Given the description of an element on the screen output the (x, y) to click on. 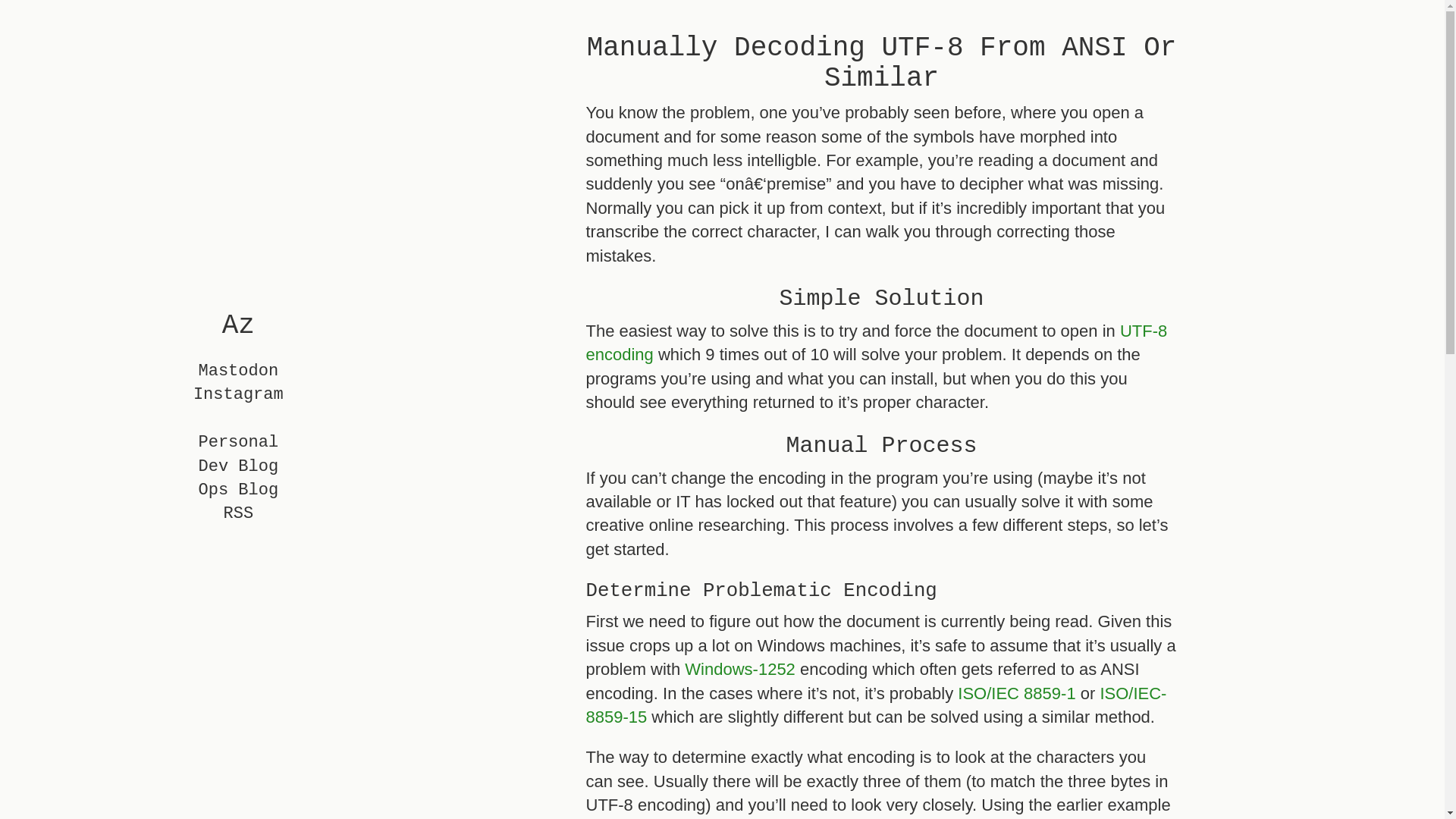
Instagram Element type: text (238, 394)
RSS Element type: text (238, 513)
Dev Blog Element type: text (237, 466)
ISO/IEC-8859-15 Element type: text (875, 705)
UTF-8 encoding Element type: text (876, 342)
Windows-1252 Element type: text (739, 668)
Mastodon Element type: text (237, 370)
Ops Blog Element type: text (237, 489)
ISO/IEC 8859-1 Element type: text (1016, 693)
Personal Element type: text (237, 442)
